Given the description of an element on the screen output the (x, y) to click on. 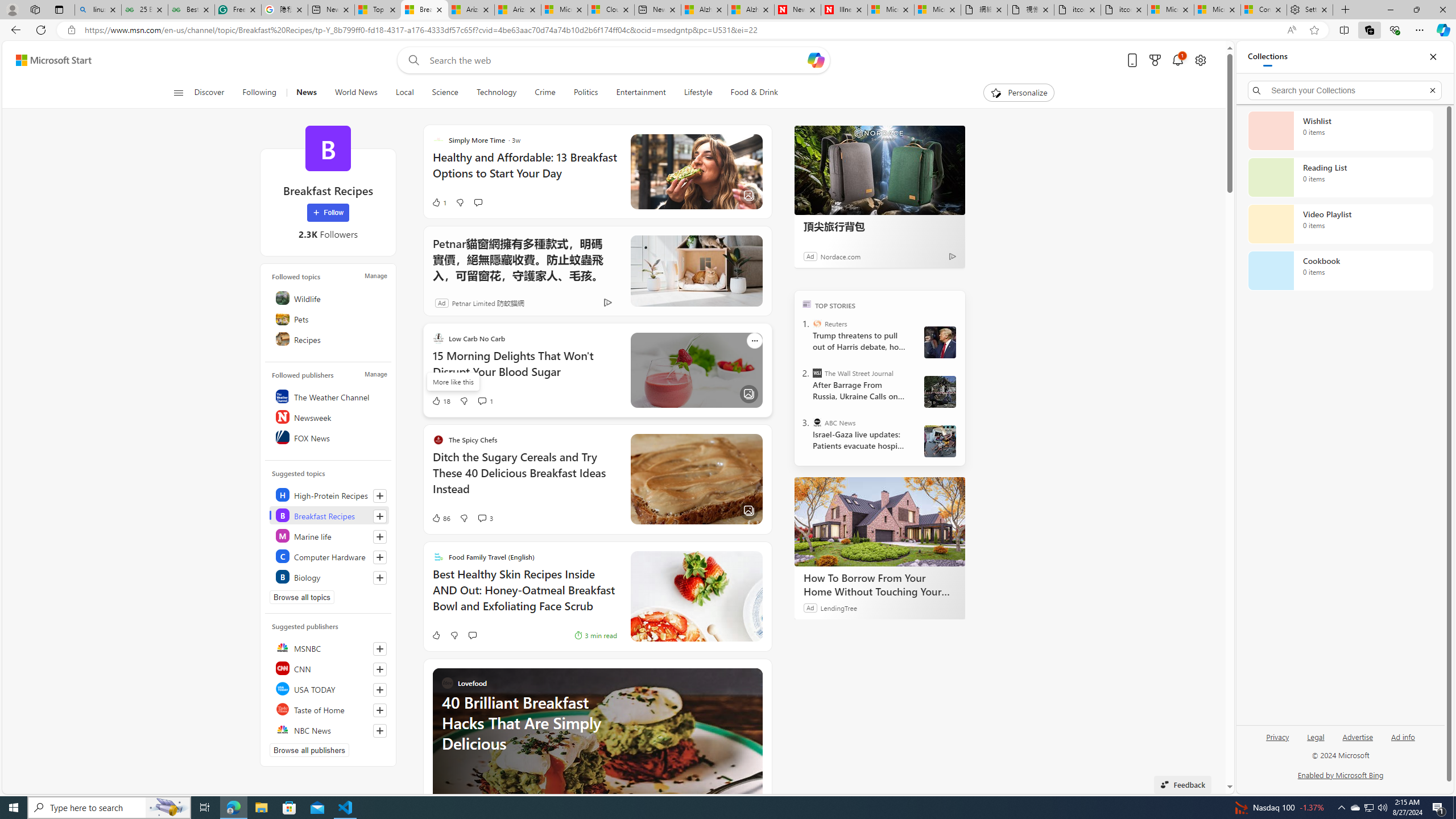
Ad info (1402, 741)
86 Like (440, 517)
Legal (1315, 736)
Technology (496, 92)
How To Borrow From Your Home Without Touching Your Mortgage (879, 521)
Cookbook collection, 0 items (1339, 270)
Entertainment (640, 92)
